Given the description of an element on the screen output the (x, y) to click on. 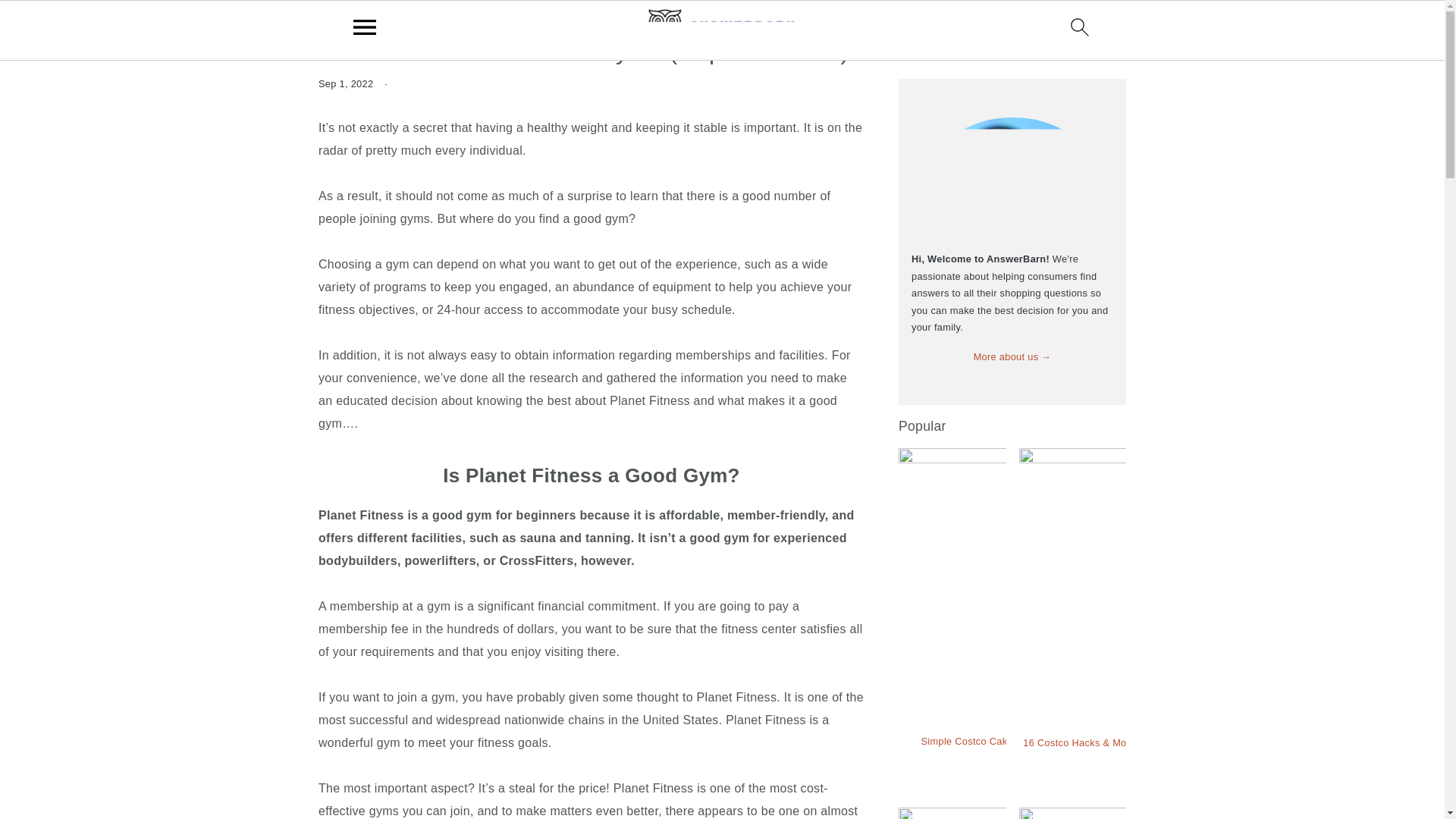
menu icon (365, 26)
search icon (1080, 26)
12 Yummiest Costco Prepared Meals for Busy Weeknights (1035, 813)
